Given the description of an element on the screen output the (x, y) to click on. 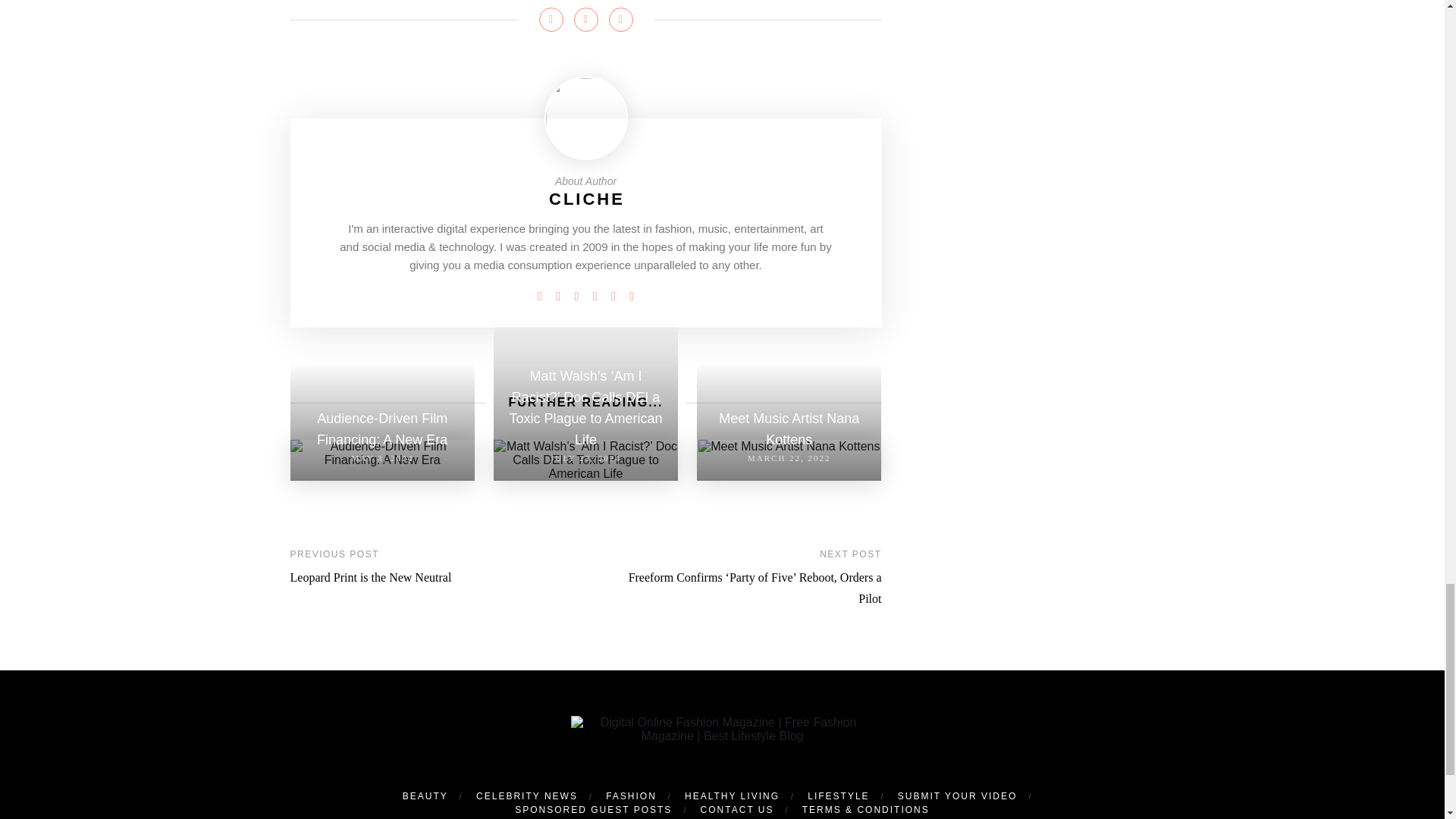
Posts by Cliche (586, 198)
Meet Music Artist Nana Kottens (788, 446)
Audience-Driven Film Financing: A New Era (381, 452)
